Given the description of an element on the screen output the (x, y) to click on. 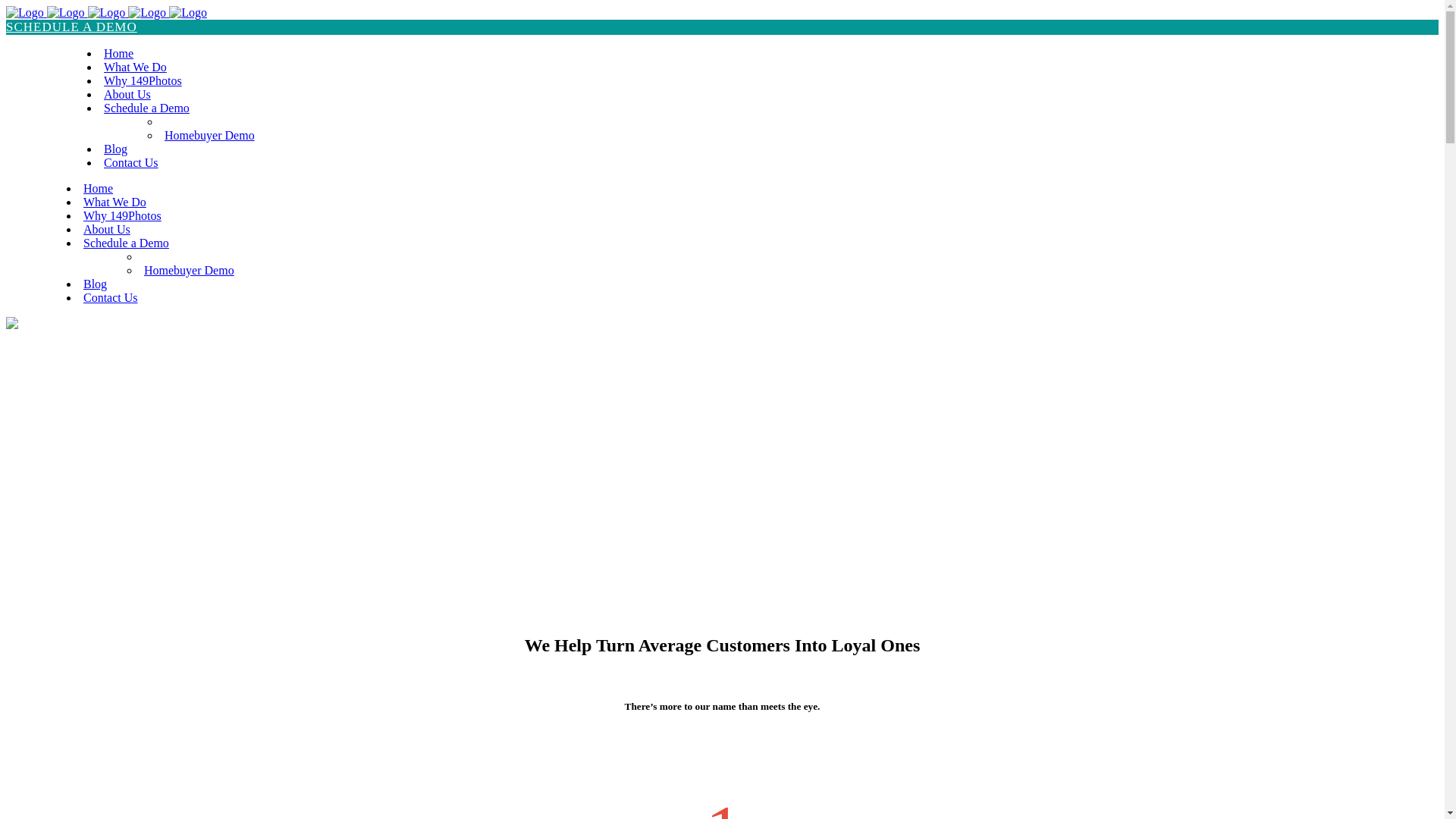
Contact Us Element type: text (130, 162)
SCHEDULE A DEMO Element type: text (722, 26)
Why 149Photos Element type: text (142, 80)
Home Element type: text (118, 53)
Schedule a Demo Element type: text (146, 107)
Homebuyer Demo Element type: text (189, 269)
Home Element type: text (97, 188)
Why 149Photos Element type: text (122, 215)
Homebuyer Demo Element type: text (209, 134)
Contact Us Element type: text (110, 297)
What We Do Element type: text (114, 201)
Blog Element type: text (115, 148)
Blog Element type: text (94, 283)
About Us Element type: text (126, 93)
What We Do Element type: text (134, 66)
About Us Element type: text (106, 228)
Schedule a Demo Element type: text (126, 242)
